Given the description of an element on the screen output the (x, y) to click on. 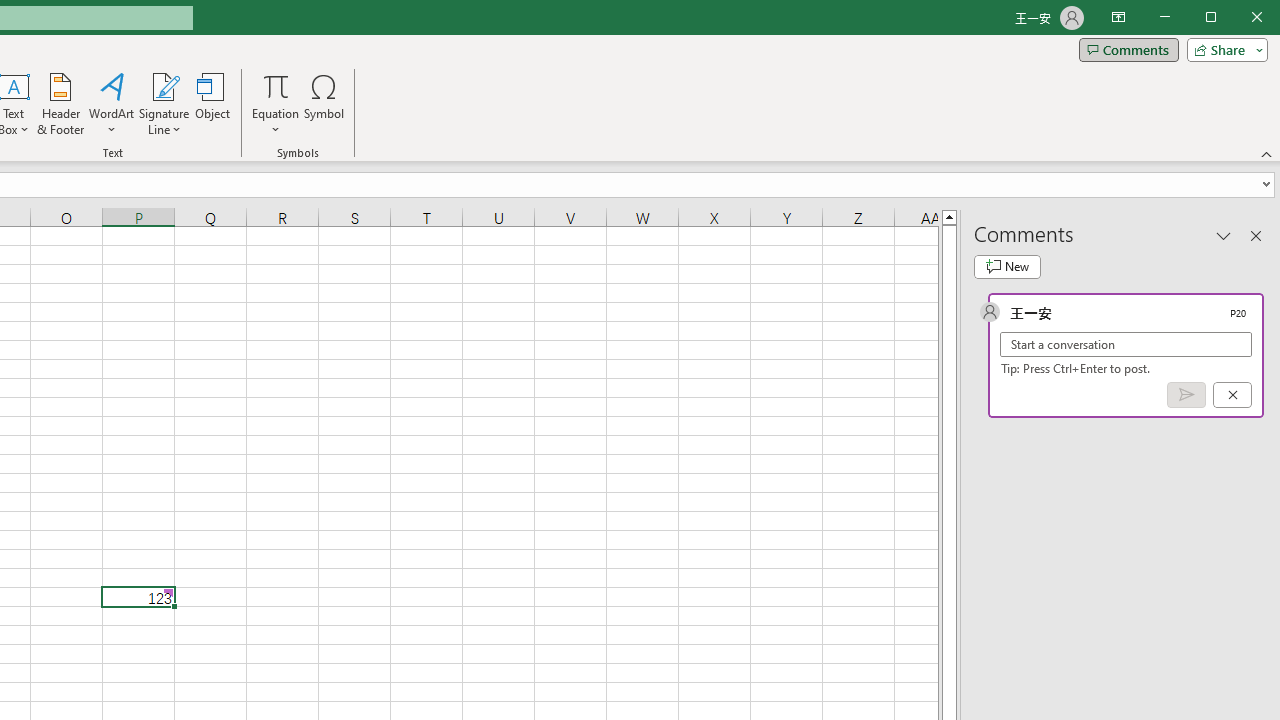
Cancel (1232, 395)
Share (1223, 49)
Task Pane Options (1224, 235)
WordArt (111, 104)
Close (1261, 18)
Post comment (Ctrl + Enter) (1186, 395)
More Options (275, 123)
Maximize (1239, 18)
Object... (213, 104)
Ribbon Display Options (1118, 17)
